Given the description of an element on the screen output the (x, y) to click on. 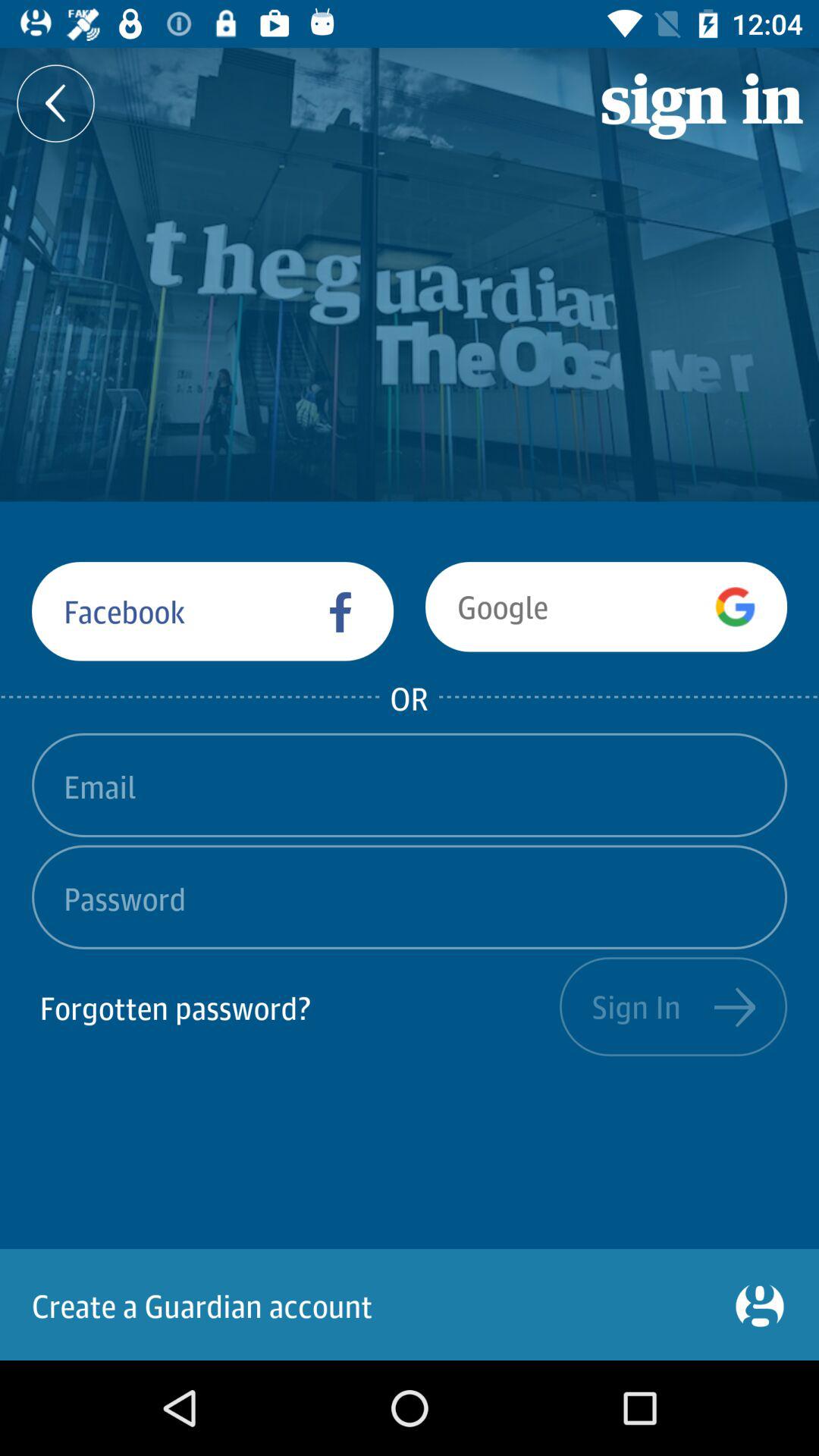
tap icon above the create a guardian icon (295, 1006)
